Given the description of an element on the screen output the (x, y) to click on. 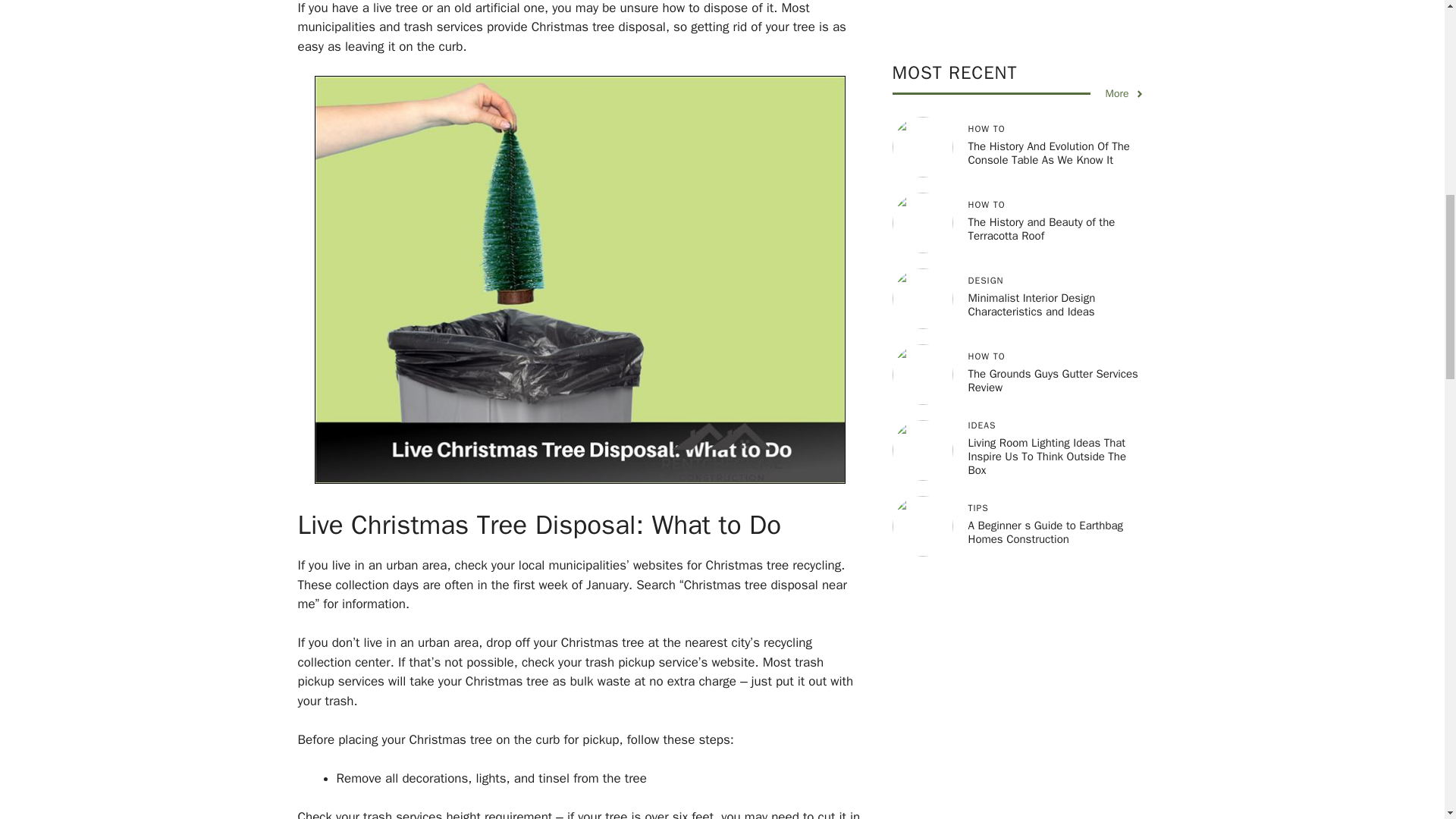
The History and Beauty of the Terracotta Roof (1041, 89)
The History And Evolution Of The Console Table As We Know It (1048, 13)
Minimalist Interior Design Characteristics and Ideas (1031, 165)
